Given the description of an element on the screen output the (x, y) to click on. 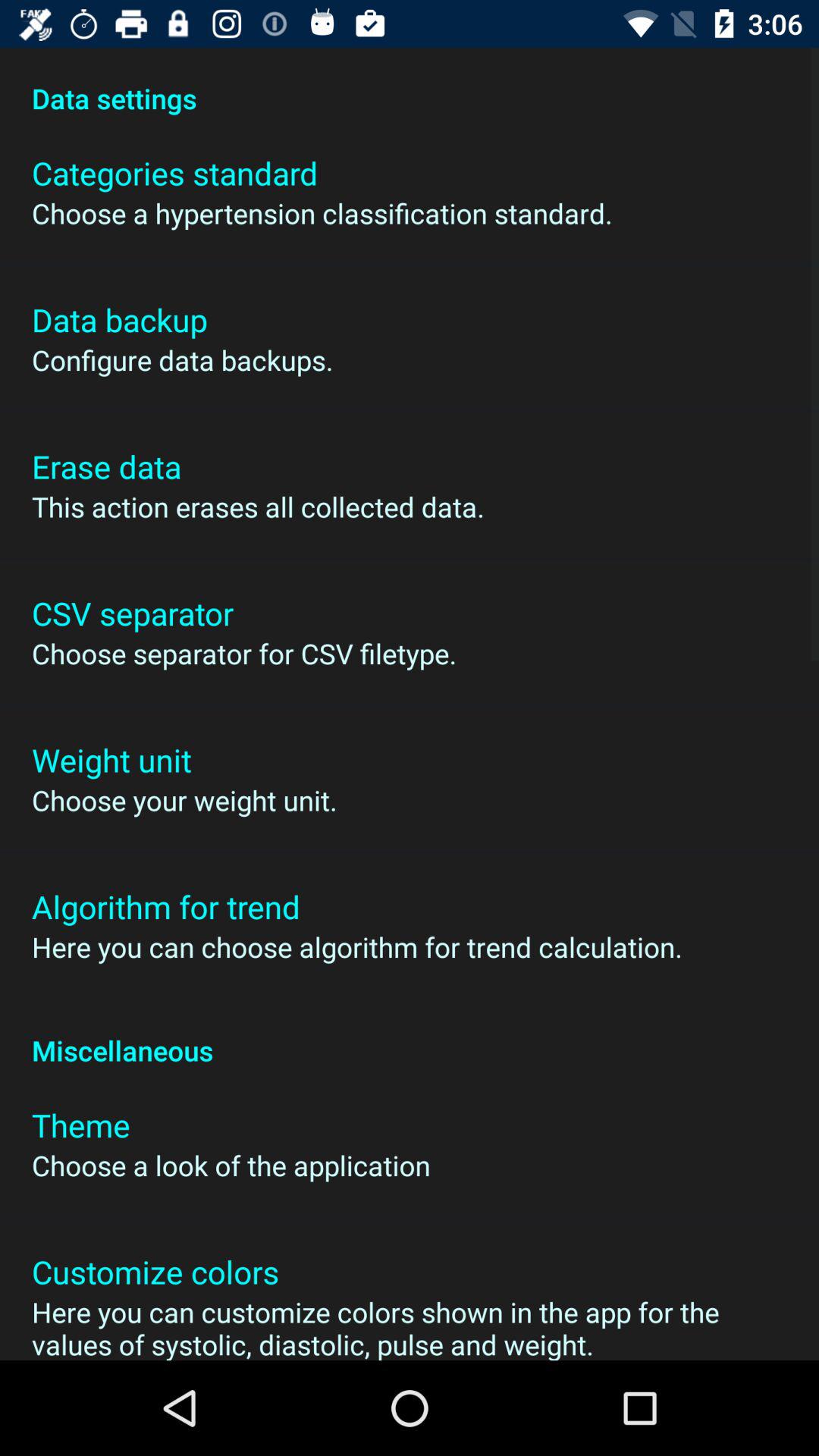
turn on the icon above configure data backups. app (119, 319)
